Given the description of an element on the screen output the (x, y) to click on. 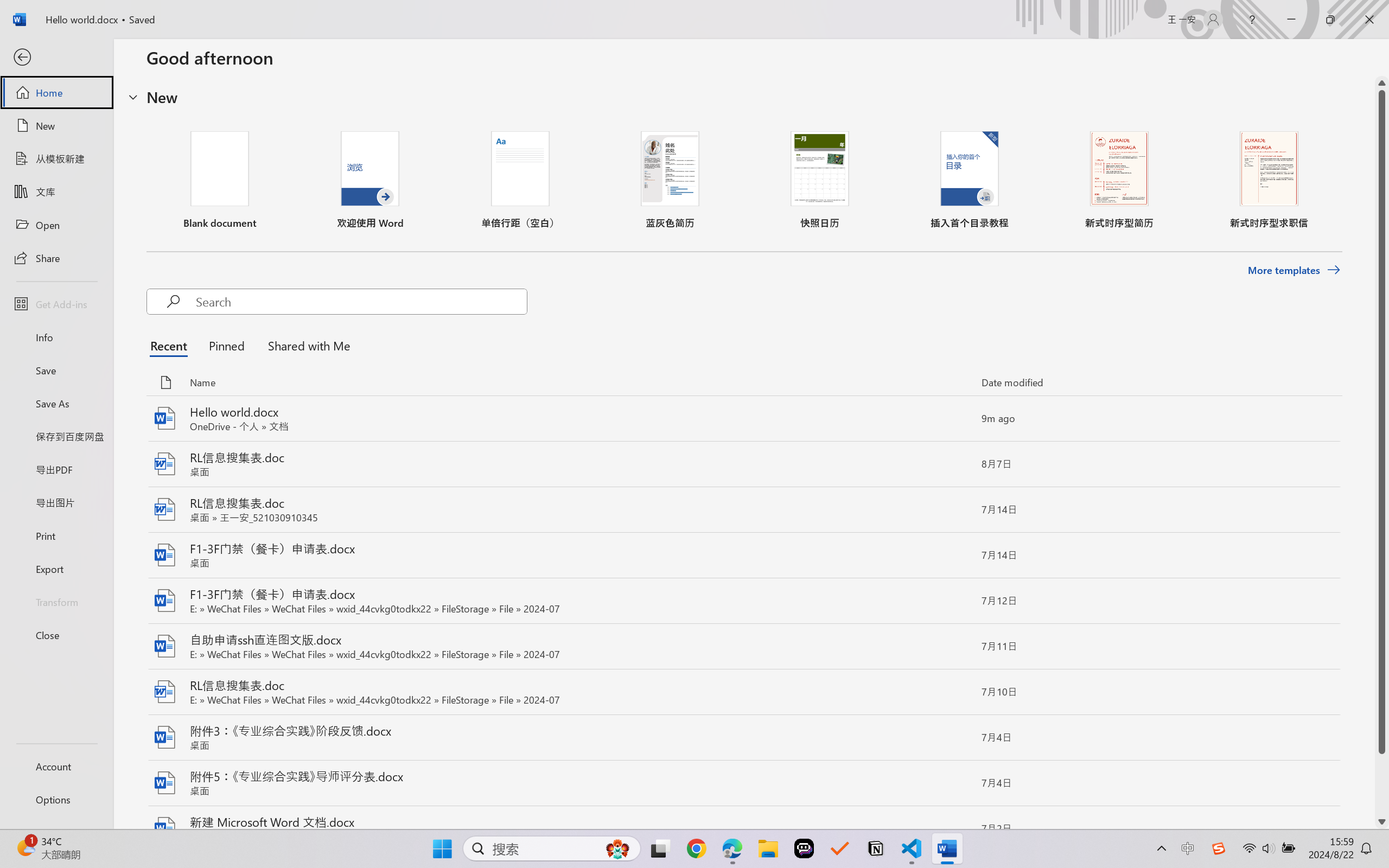
Help (1252, 19)
Open (56, 224)
New (56, 125)
Recent (171, 345)
Search (360, 301)
AutomationID: BadgeAnchorLargeTicker (24, 847)
Get Add-ins (56, 303)
Account (56, 765)
Share (56, 257)
